Given the description of an element on the screen output the (x, y) to click on. 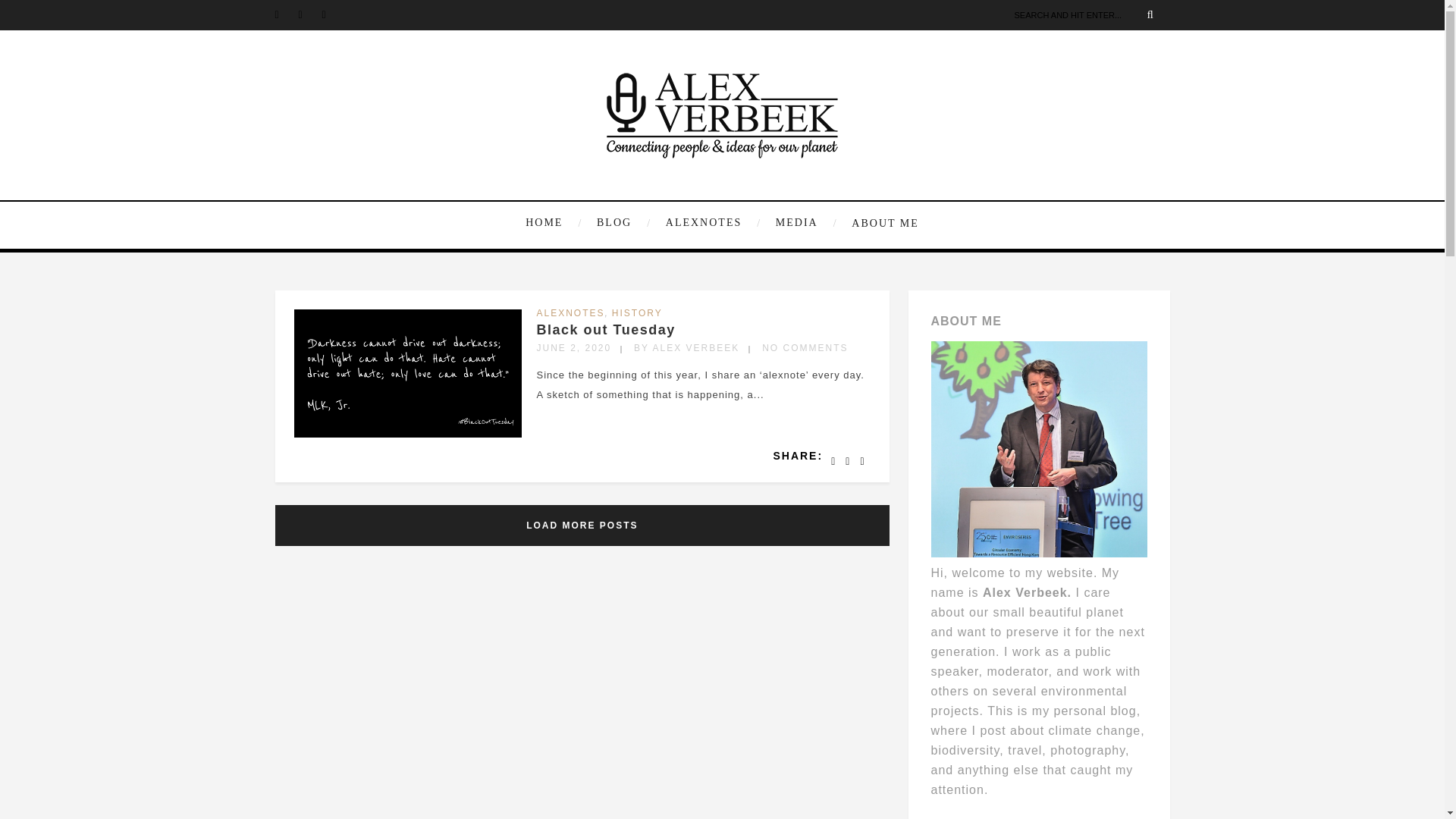
BLOG (621, 222)
Permanent Link to Black out Tuesday (606, 329)
Black out Tuesday (606, 329)
NO COMMENTS (804, 347)
ABOUT ME (881, 222)
MEDIA (804, 222)
BY ALEX VERBEEK (686, 347)
ALEXNOTES (571, 312)
ALEXNOTES (711, 222)
HISTORY (636, 312)
